Given the description of an element on the screen output the (x, y) to click on. 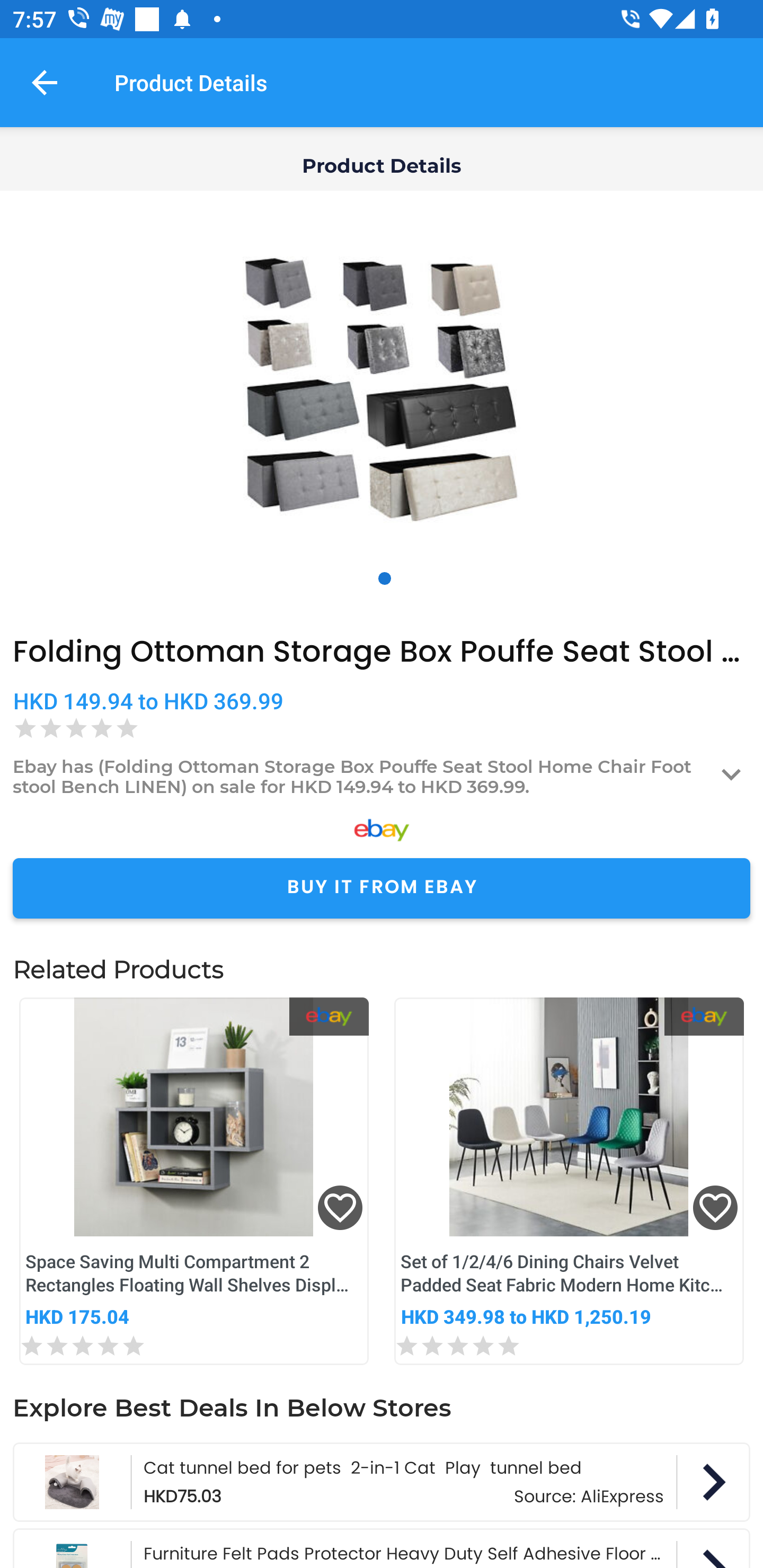
Navigate up (44, 82)
BUY IT FROM EBAY (381, 888)
